Given the description of an element on the screen output the (x, y) to click on. 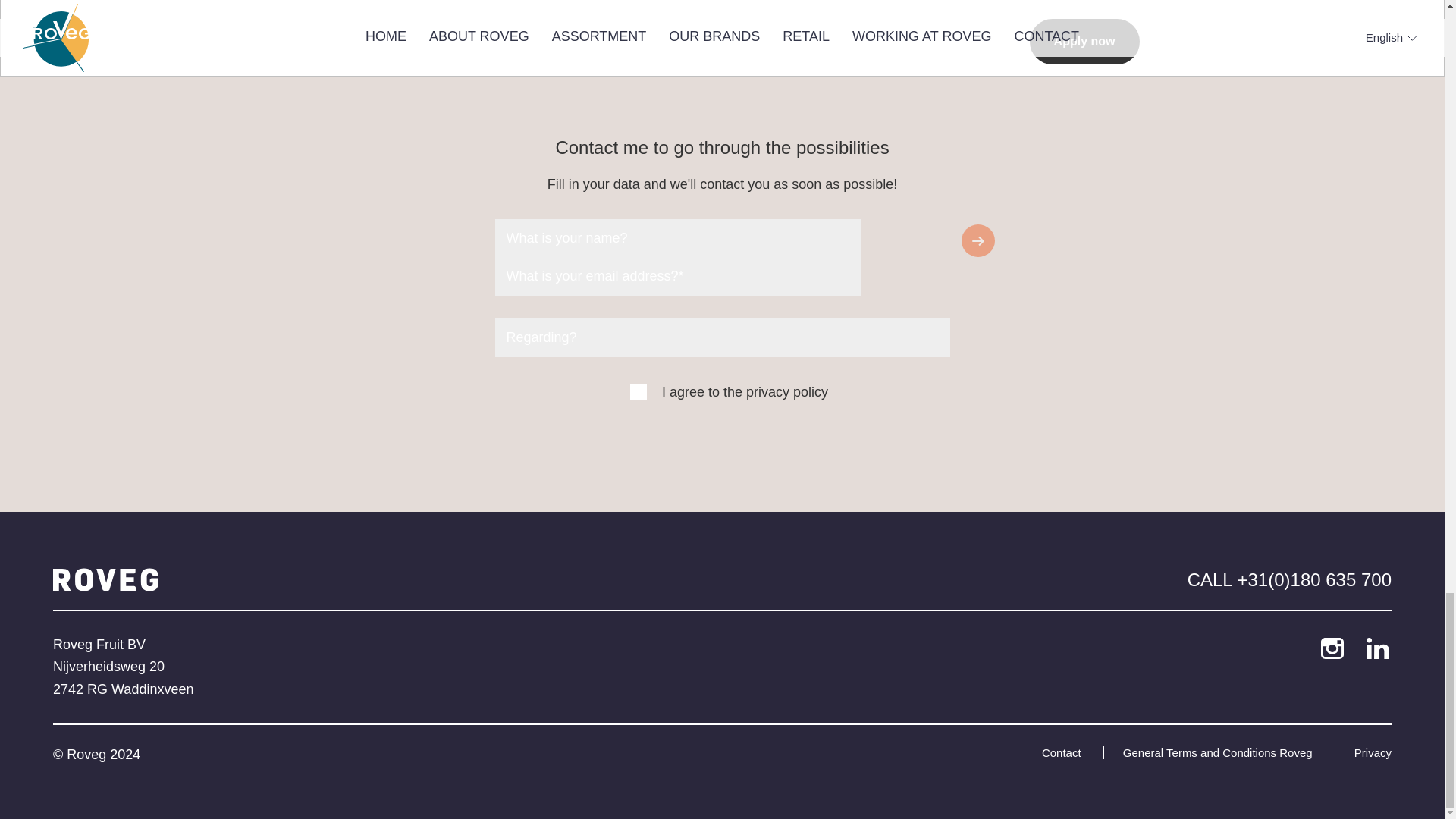
General Terms and Conditions Roveg (1219, 752)
Contact (1072, 752)
Privacy (1363, 752)
